Given the description of an element on the screen output the (x, y) to click on. 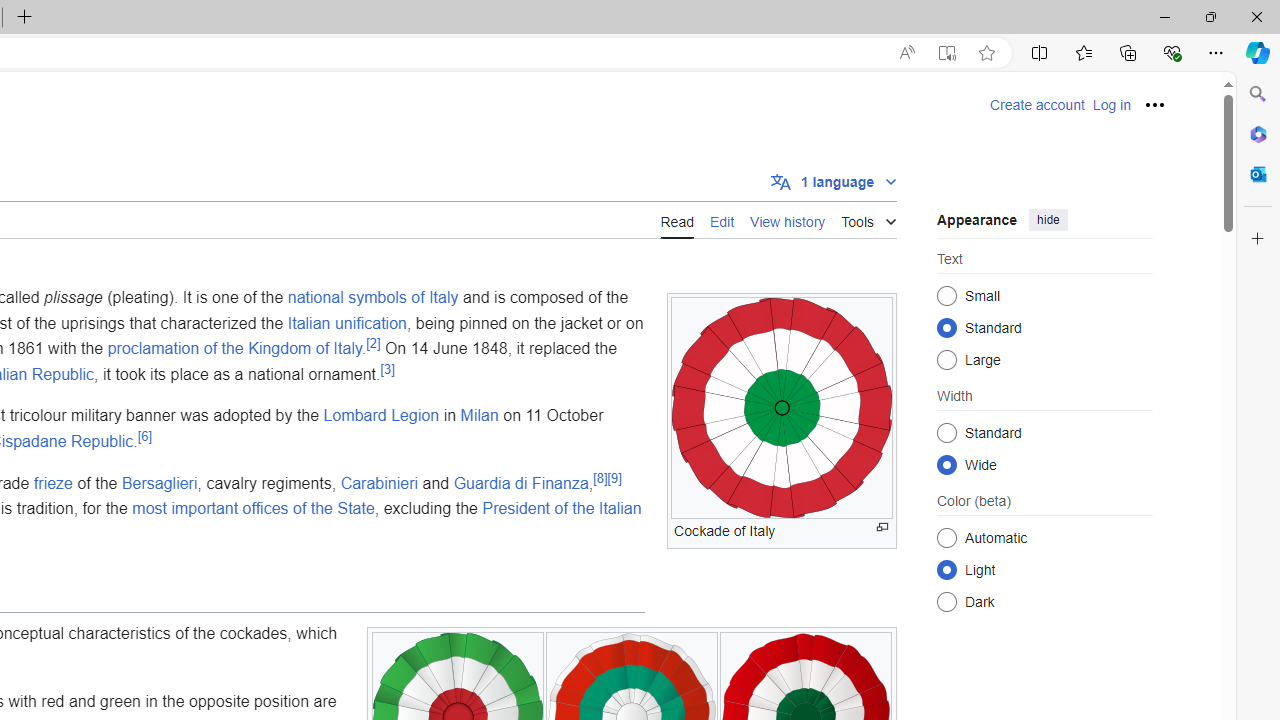
frieze (52, 482)
Edit (721, 219)
Class: mw-list-item mw-list-item-js (1044, 569)
Small (946, 295)
Copilot (Ctrl+Shift+.) (1258, 52)
New Tab (24, 17)
Automatic (946, 537)
Collections (1128, 52)
Dark (946, 601)
Close (1256, 16)
most important offices of the State (253, 508)
Split screen (1039, 52)
Search (1258, 94)
Browser essentials (1171, 52)
View history (787, 219)
